Given the description of an element on the screen output the (x, y) to click on. 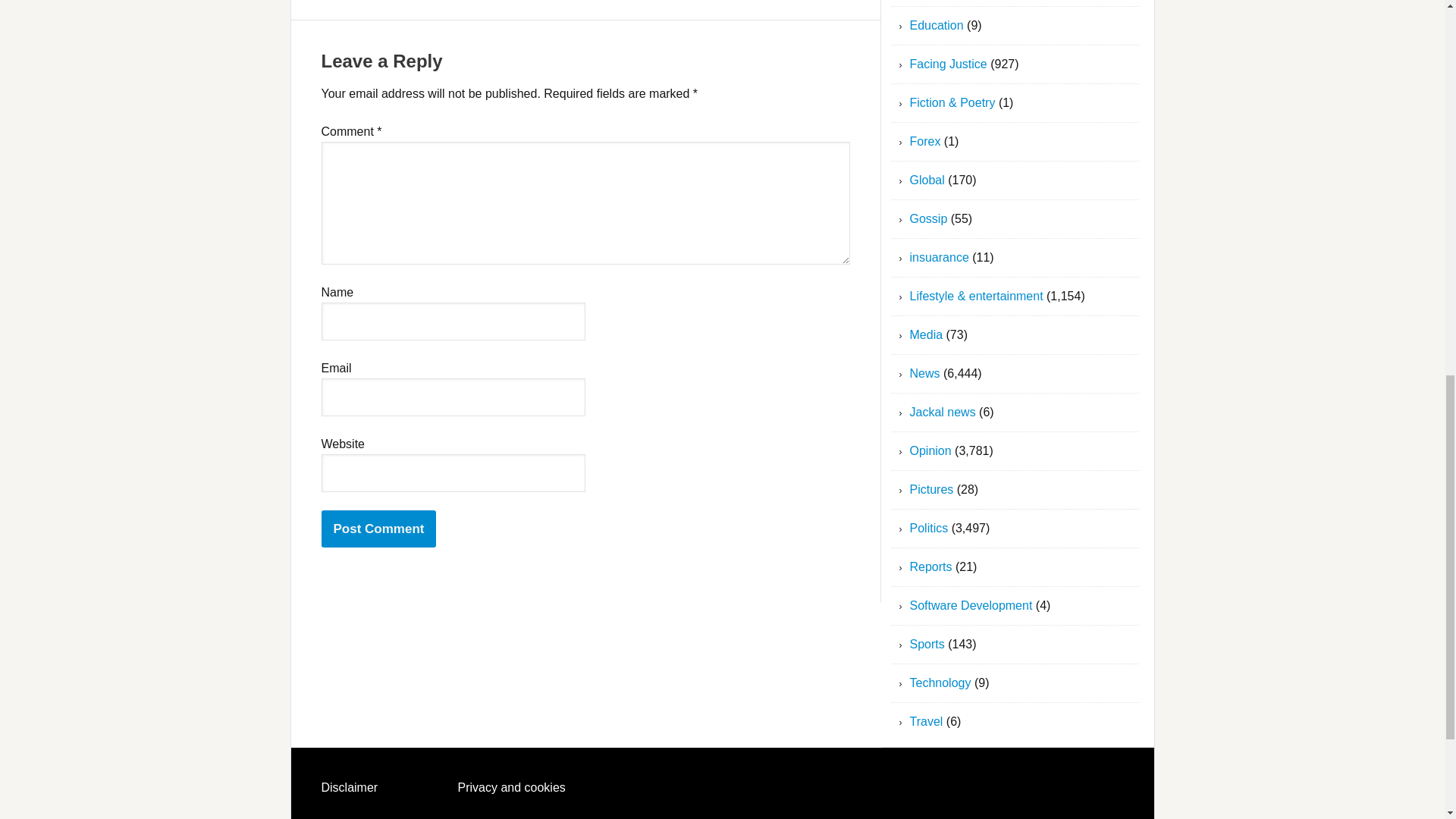
News (925, 373)
Opinion (931, 450)
Education (936, 24)
Jackal news (942, 411)
Pictures (931, 489)
Post Comment (378, 528)
Gossip (928, 218)
Global (927, 179)
Forex (925, 141)
Media (926, 334)
Politics (929, 527)
Post Comment (378, 528)
insuarance (939, 256)
Facing Justice (948, 63)
